Given the description of an element on the screen output the (x, y) to click on. 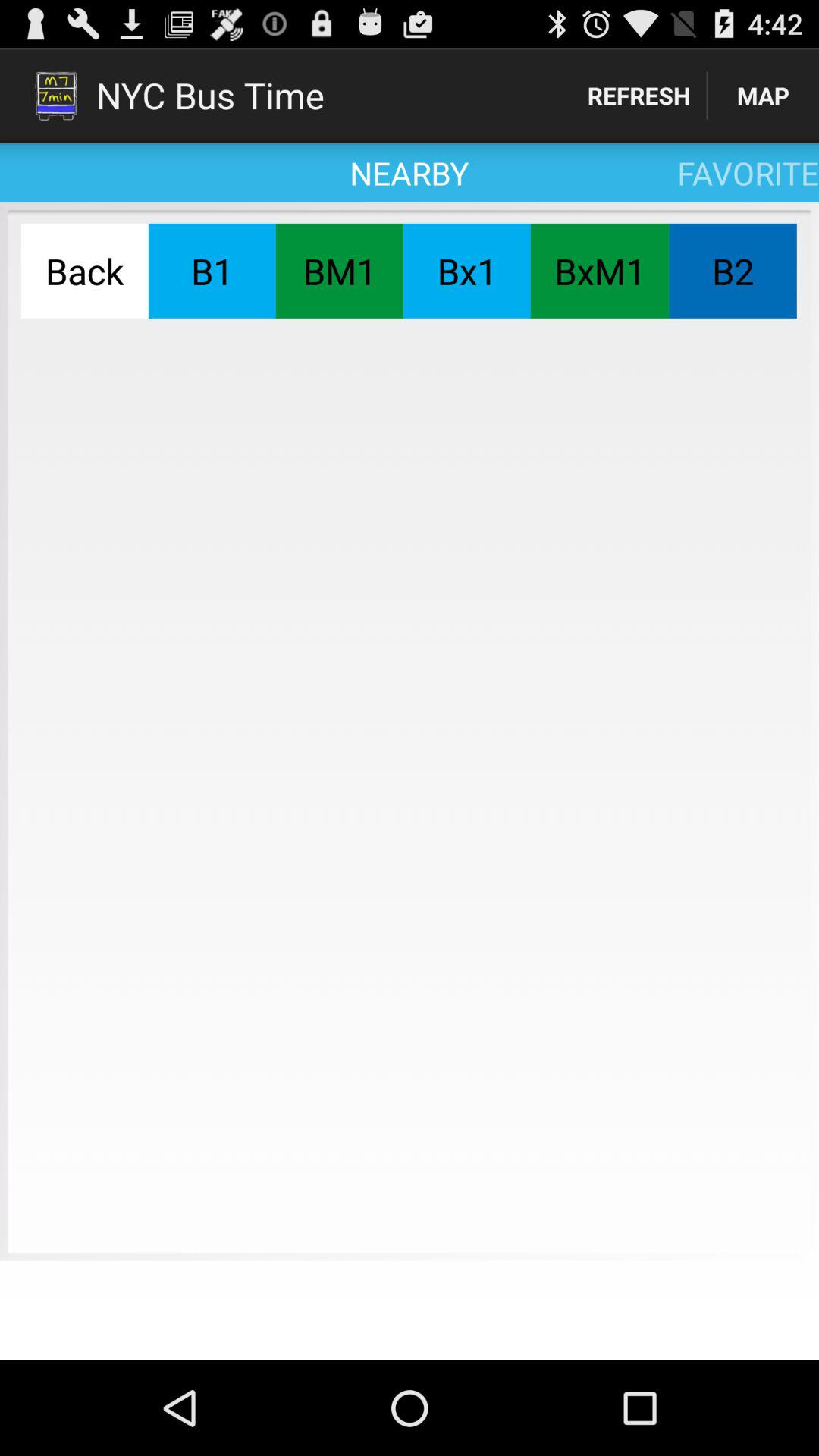
press icon next to the bm1 item (466, 271)
